Given the description of an element on the screen output the (x, y) to click on. 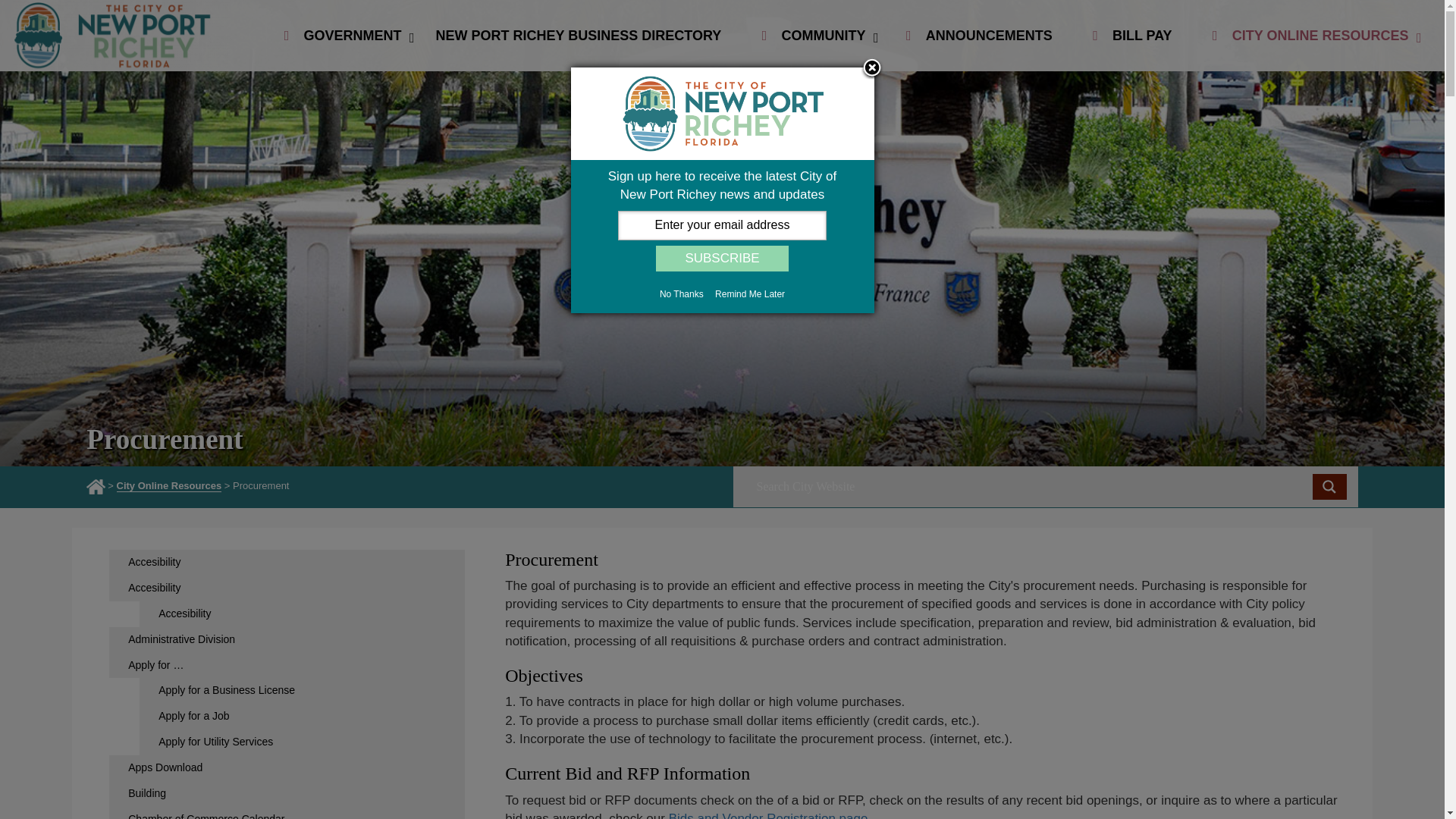
Enter your email address (722, 224)
Subscribe (722, 258)
NEW PORT RICHEY BUSINESS DIRECTORY (583, 35)
Go to New Port Richey. (96, 486)
ANNOUNCEMENTS (979, 35)
GOVERNMENT (343, 35)
COMMUNITY (813, 35)
BILL PAY (1133, 35)
CITY ONLINE RESOURCES (1311, 35)
Go to City Online Resources. (169, 485)
